Given the description of an element on the screen output the (x, y) to click on. 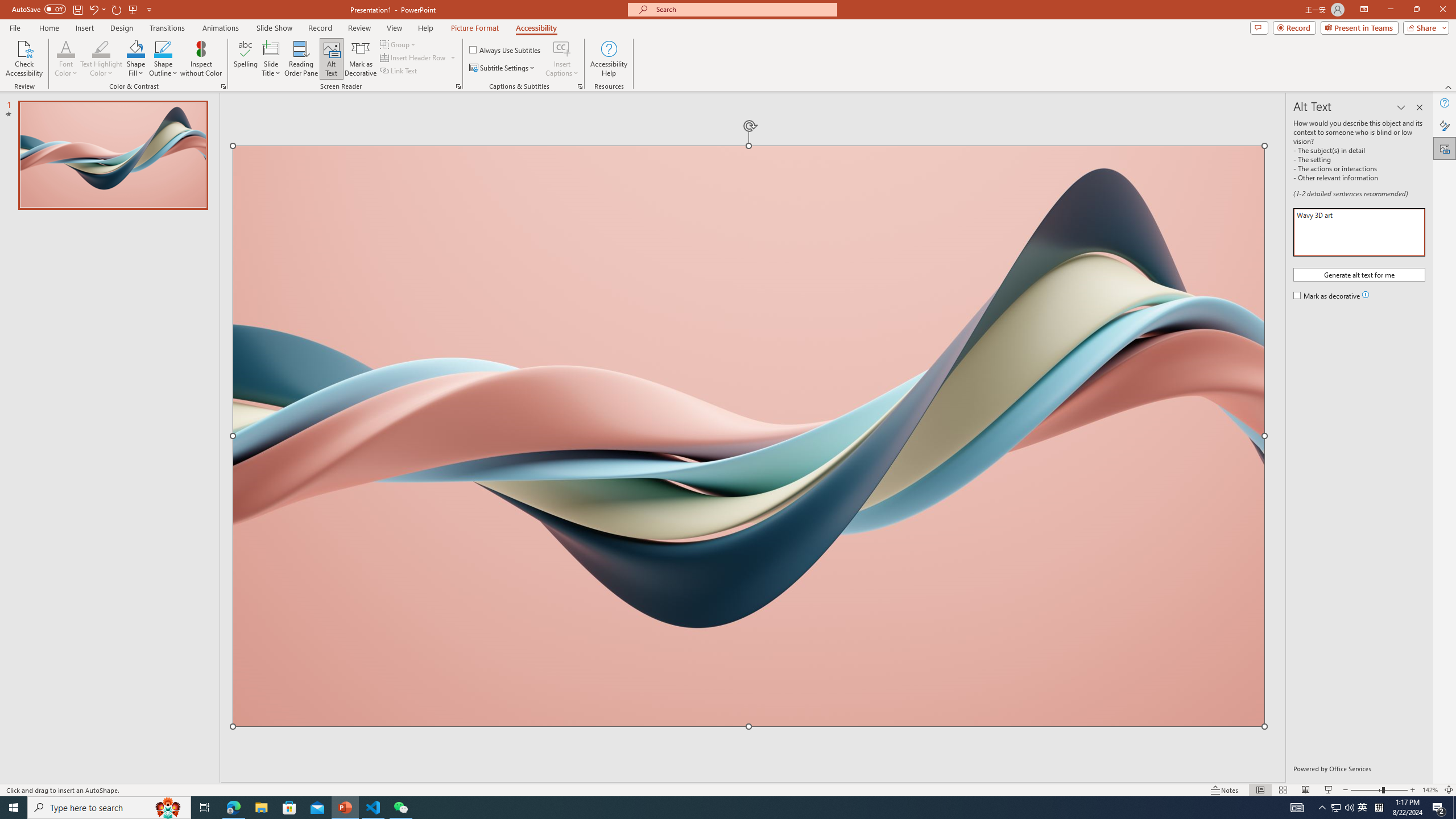
Generate alt text for me (1358, 274)
Inspect without Color (201, 58)
